Given the description of an element on the screen output the (x, y) to click on. 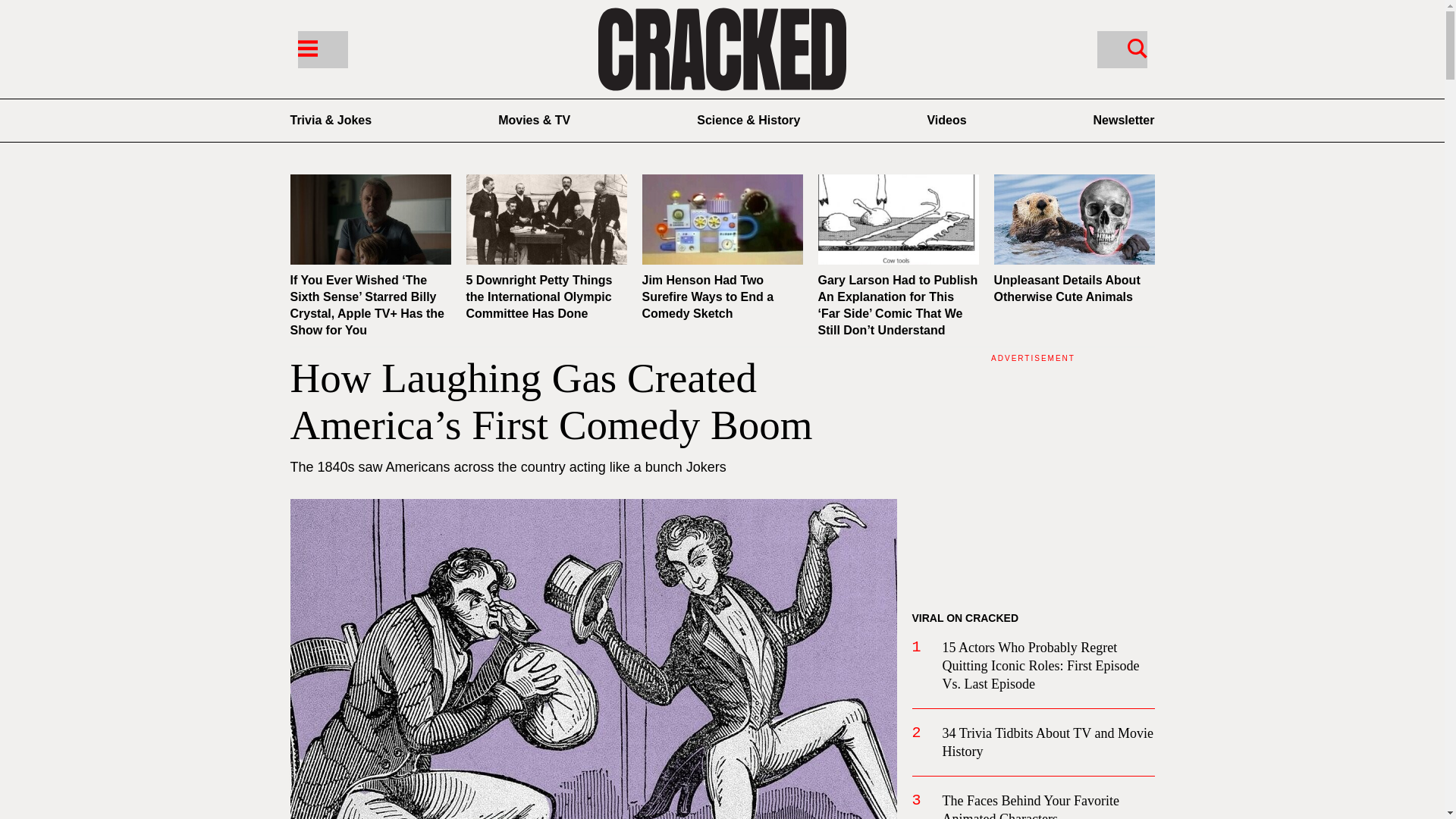
Menu (322, 48)
Jim Henson Had Two Surefire Ways to End a Comedy Sketch (707, 296)
Menu (307, 47)
Search (1121, 48)
Search (1136, 47)
Videos (946, 119)
Unpleasant Details About Otherwise Cute Animals (1066, 288)
Videos (946, 119)
Newsletter (1123, 119)
